Given the description of an element on the screen output the (x, y) to click on. 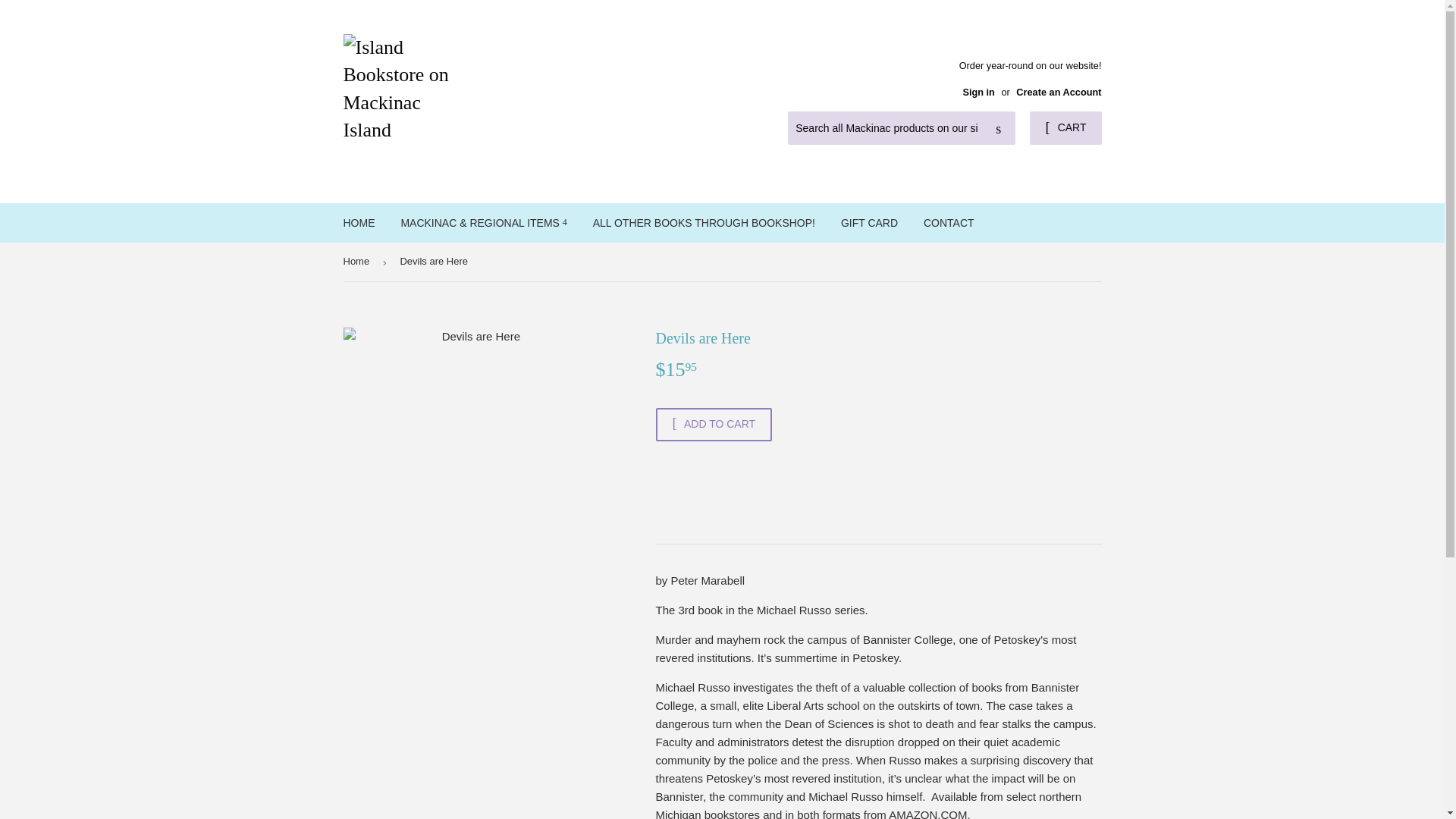
Search (997, 128)
HOME (359, 222)
CART (1064, 127)
Sign in (978, 91)
Create an Account (1058, 91)
